Given the description of an element on the screen output the (x, y) to click on. 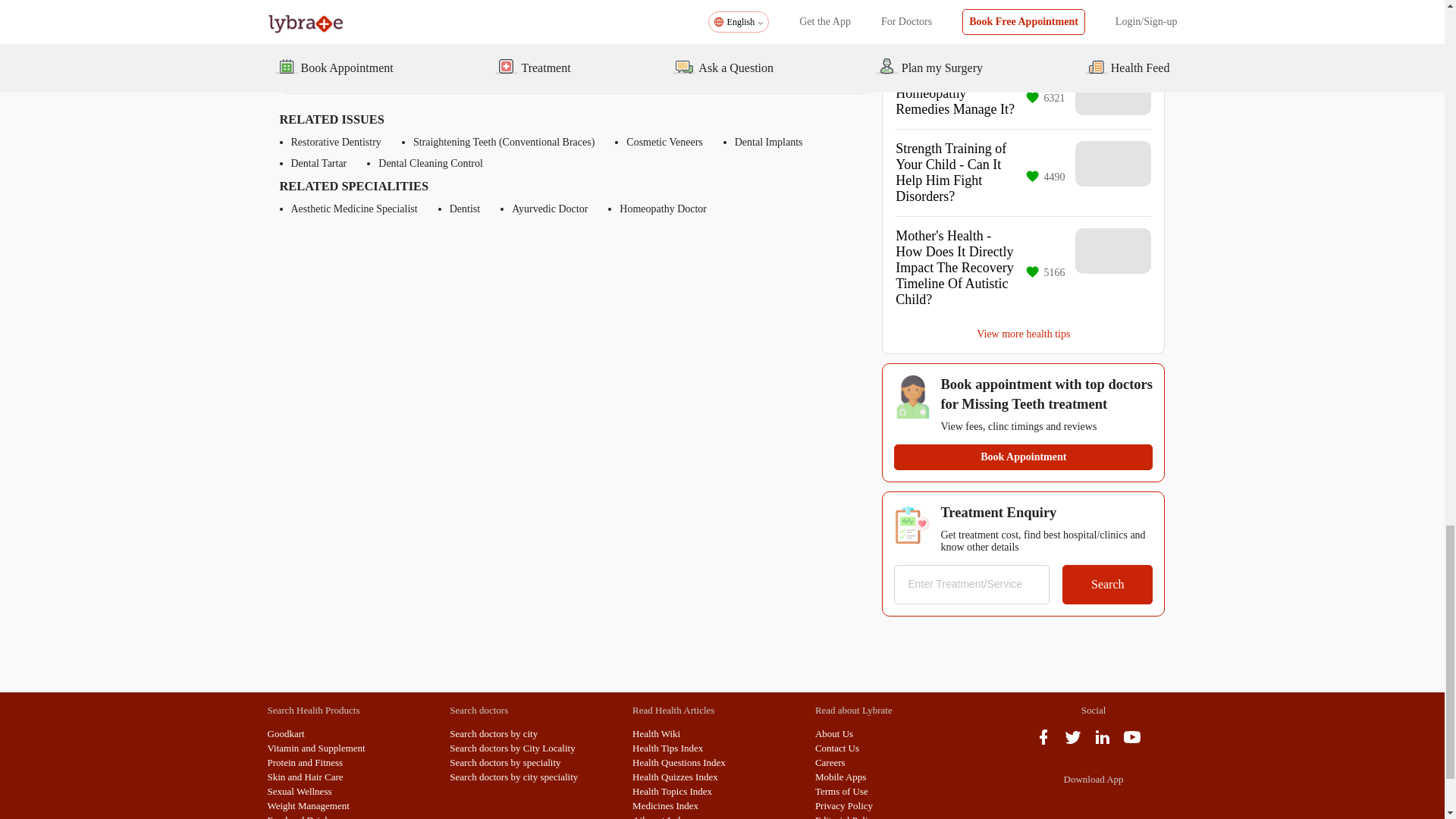
Dental Cleaning Control (430, 163)
Ayurvedic Doctor (550, 209)
Dental Tartar (319, 163)
Aesthetic Medicine Specialist (354, 209)
Skin and Hair Care (304, 776)
Sexual Wellness (298, 790)
Protein and Fitness (304, 762)
Appointment (764, 66)
Thank (384, 66)
Weight Management (307, 805)
